Given the description of an element on the screen output the (x, y) to click on. 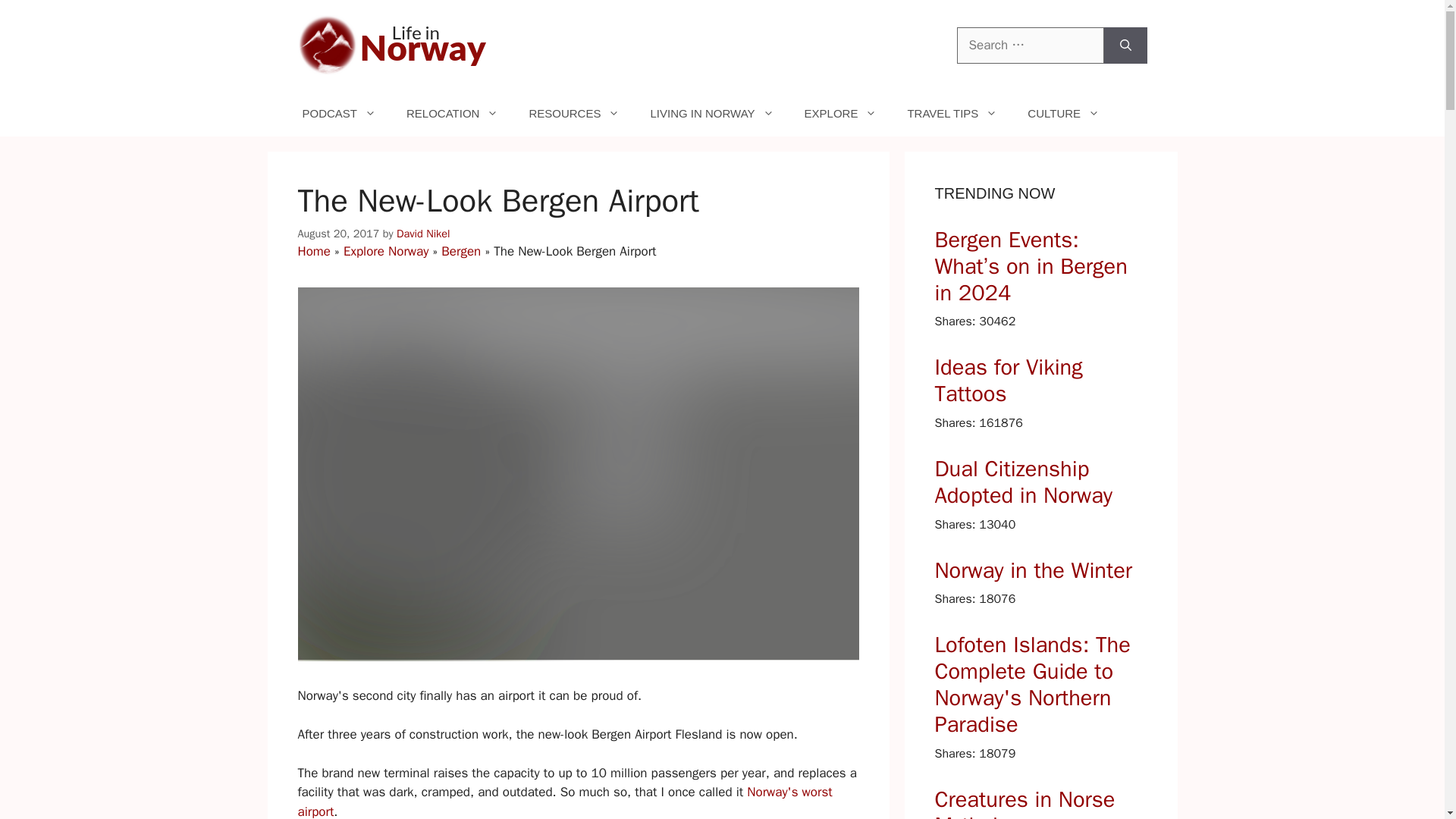
View all posts by David Nikel (422, 233)
LIVING IN NORWAY (711, 113)
RESOURCES (573, 113)
PODCAST (338, 113)
RELOCATION (452, 113)
EXPLORE (840, 113)
Search for: (1029, 45)
